Given the description of an element on the screen output the (x, y) to click on. 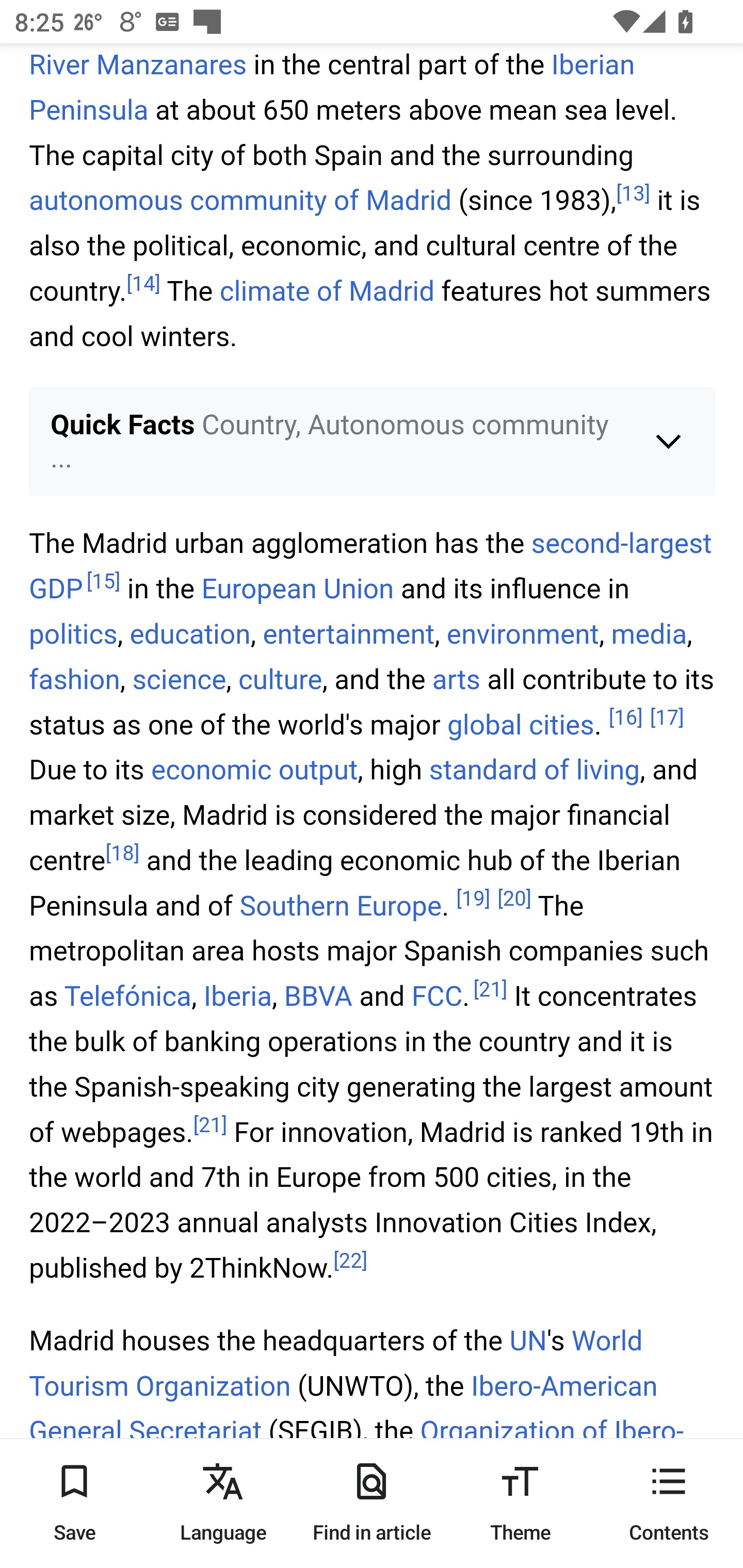
River Manzanares (137, 67)
Iberian Peninsula (332, 90)
[] [ 13 ] (633, 195)
autonomous community of Madrid (240, 202)
[] [ 14 ] (144, 285)
climate of Madrid (326, 292)
second-largest GDP (370, 568)
[] [ 15 ] (102, 583)
European Union (297, 590)
politics (73, 636)
education (189, 636)
entertainment (347, 636)
environment (522, 636)
media (649, 636)
fashion (74, 680)
science (179, 680)
culture (280, 680)
arts (455, 680)
[] [ 16 ] (625, 718)
[] [ 17 ] (665, 718)
global cities (520, 725)
economic output (253, 771)
standard of living (533, 771)
[] [ 18 ] (122, 855)
[] [ 19 ] (472, 899)
[] [ 20 ] (514, 899)
Southern Europe (340, 906)
[] [ 21 ] (490, 990)
Telefónica (128, 998)
Iberia (237, 998)
BBVA (318, 998)
FCC (436, 998)
[] [ 21 ] (209, 1125)
[] [ 22 ] (350, 1262)
World Tourism Organization (336, 1364)
UN (527, 1341)
Ibero-American General Secretariat (343, 1410)
Save (74, 1502)
Language (222, 1502)
Find in article (371, 1502)
Theme (519, 1502)
Contents (668, 1502)
